Given the description of an element on the screen output the (x, y) to click on. 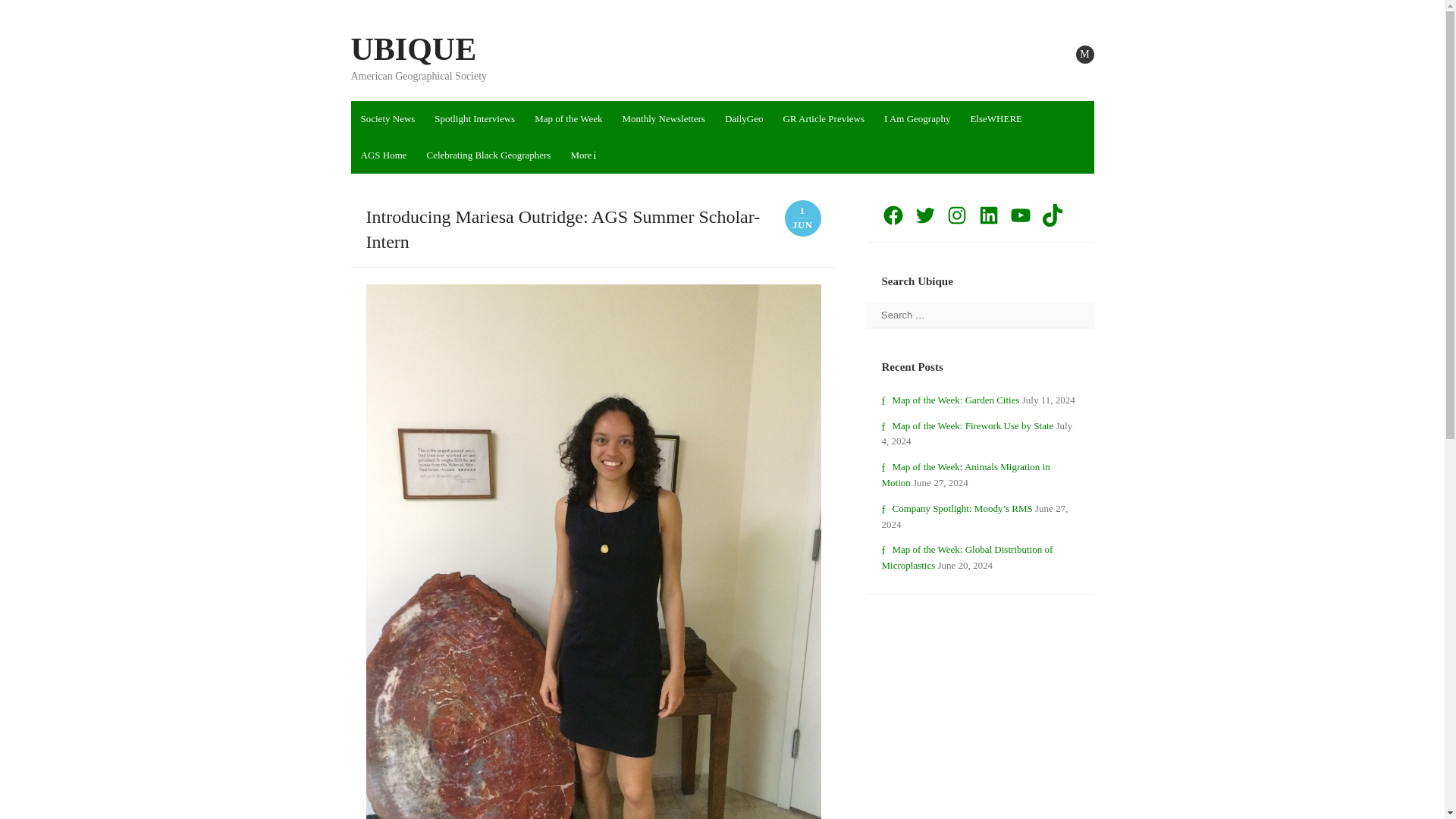
Spotlight Interviews (474, 118)
Map of the Week (567, 118)
Twitter (924, 214)
AGS Home Page (383, 155)
Introducing Mariesa Outridge: AGS Summer Scholar-Intern (562, 229)
UBIQUE (413, 48)
LinkedIn (987, 214)
Monthly Newsletters (662, 118)
Company and not for profit Spotlights (474, 118)
Search (30, 12)
YouTube (1019, 214)
Map of the Week: Firework Use by State (966, 425)
Facebook (892, 214)
DailyGeo (743, 118)
